Given the description of an element on the screen output the (x, y) to click on. 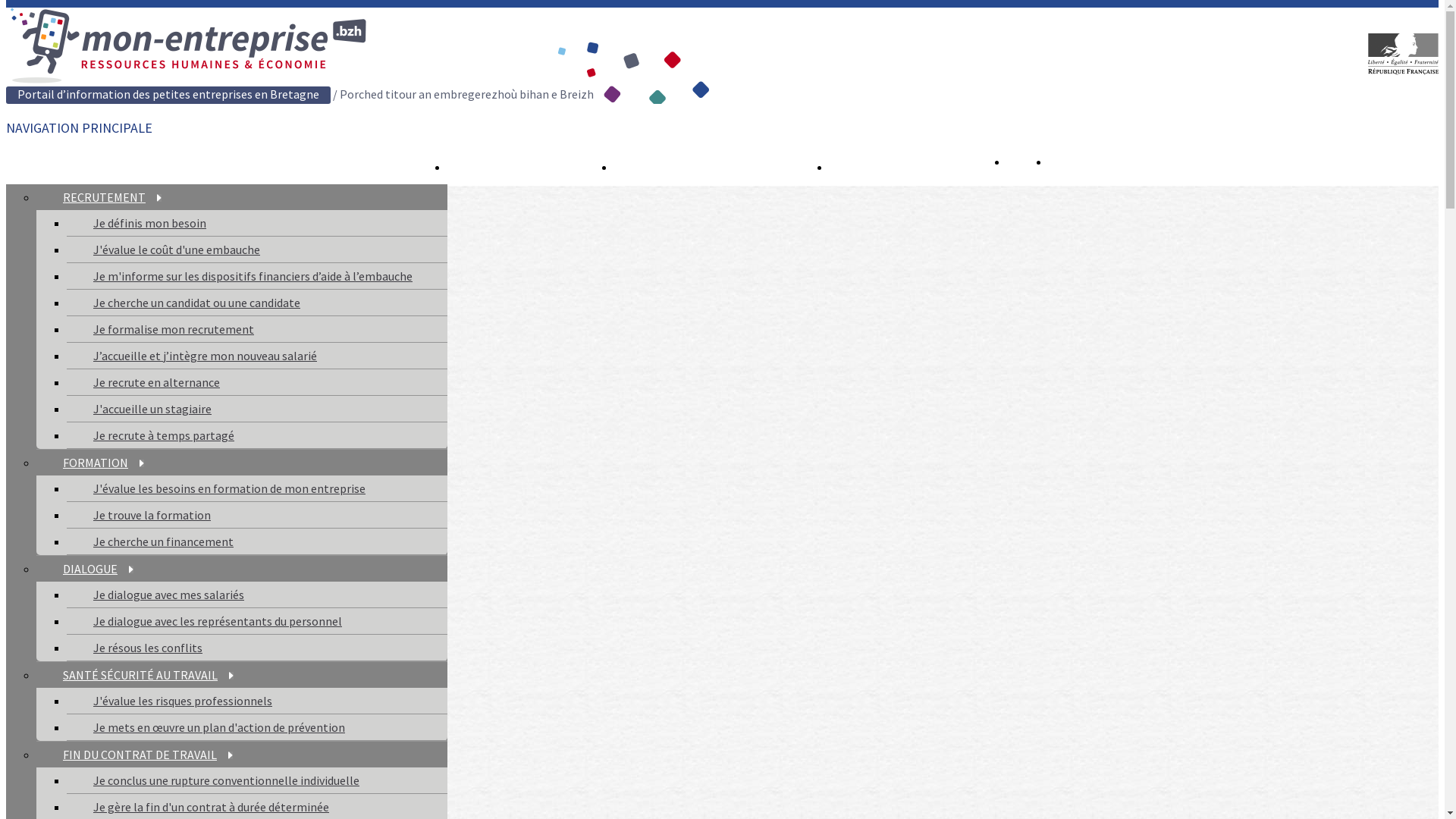
DIALOGUE Element type: text (98, 568)
Je conclus une rupture conventionnelle individuelle Element type: text (226, 780)
LINKEDIN Element type: text (1027, 165)
TWITTER Element type: text (1069, 165)
RECRUTEMENT Element type: text (112, 197)
Je cherche un candidat ou une candidate Element type: text (196, 302)
RECHERCHER Element type: text (918, 165)
FORMATION Element type: text (103, 462)
Je cherche un financement Element type: text (163, 541)
Aller au contenu principal Element type: text (6, 7)
J'accueille un stagiaire Element type: text (152, 408)
Je trouve la formation Element type: text (151, 514)
Accueil Element type: hover (186, 79)
FIN DU CONTRAT DE TRAVAIL Element type: text (147, 754)
QUI SOMMES-NOUS Element type: text (721, 165)
Je recrute en alternance Element type: text (156, 382)
Je formalise mon recrutement Element type: text (173, 329)
JE RECRUTE Element type: text (160, 336)
